Given the description of an element on the screen output the (x, y) to click on. 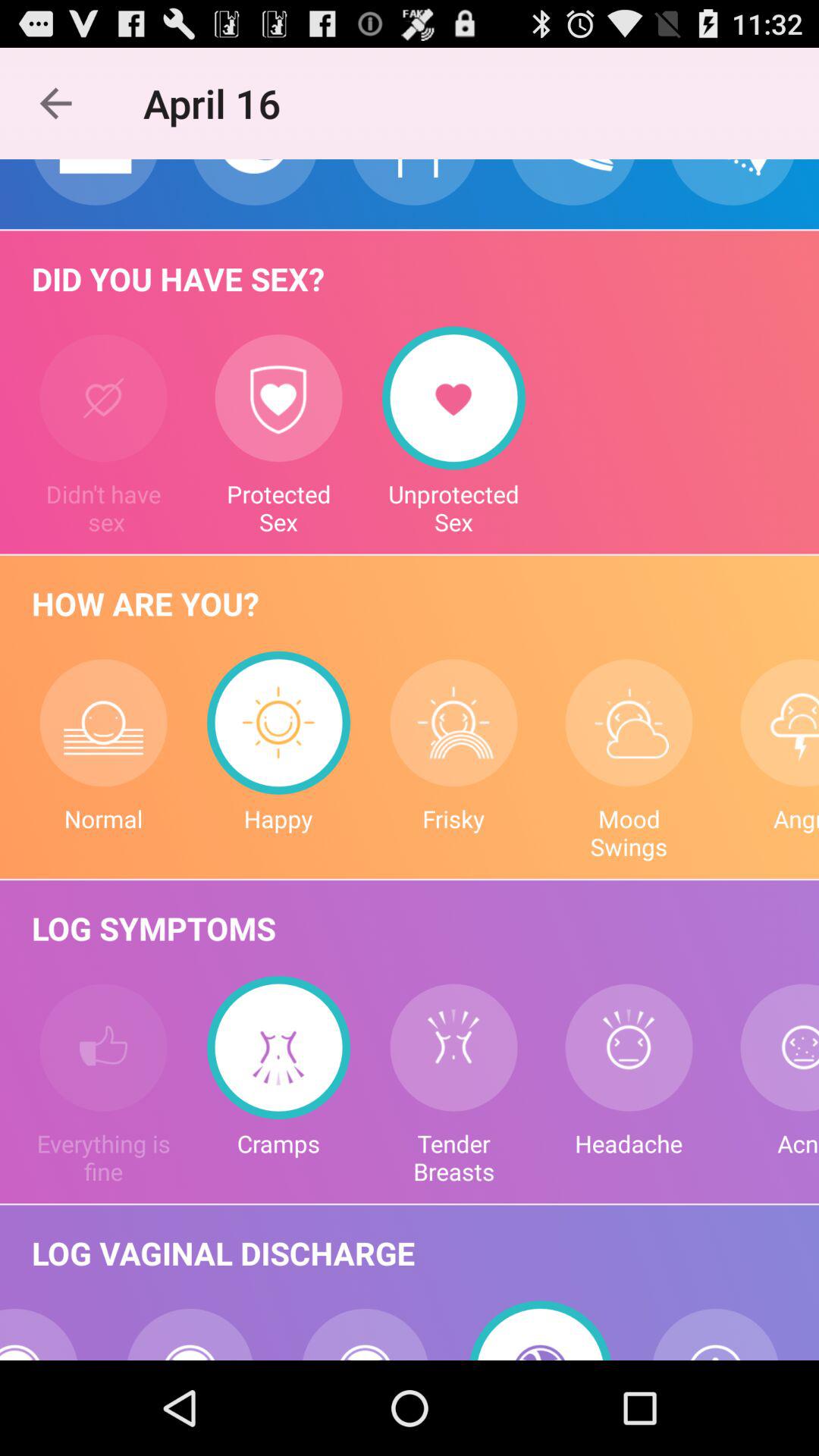
choose icon to the left of april 16 icon (55, 103)
